Given the description of an element on the screen output the (x, y) to click on. 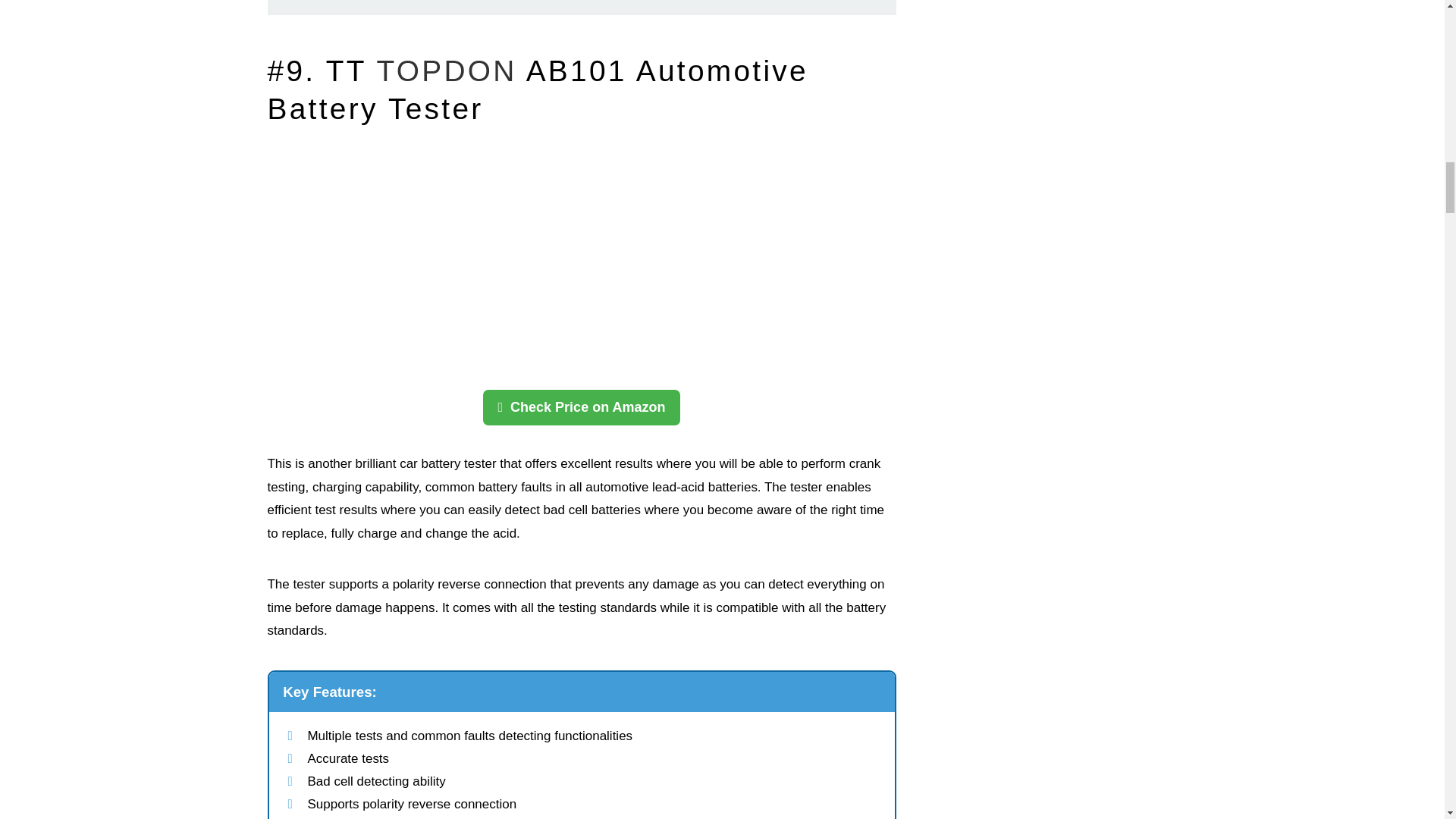
  Check Price on Amazon (581, 407)
